Given the description of an element on the screen output the (x, y) to click on. 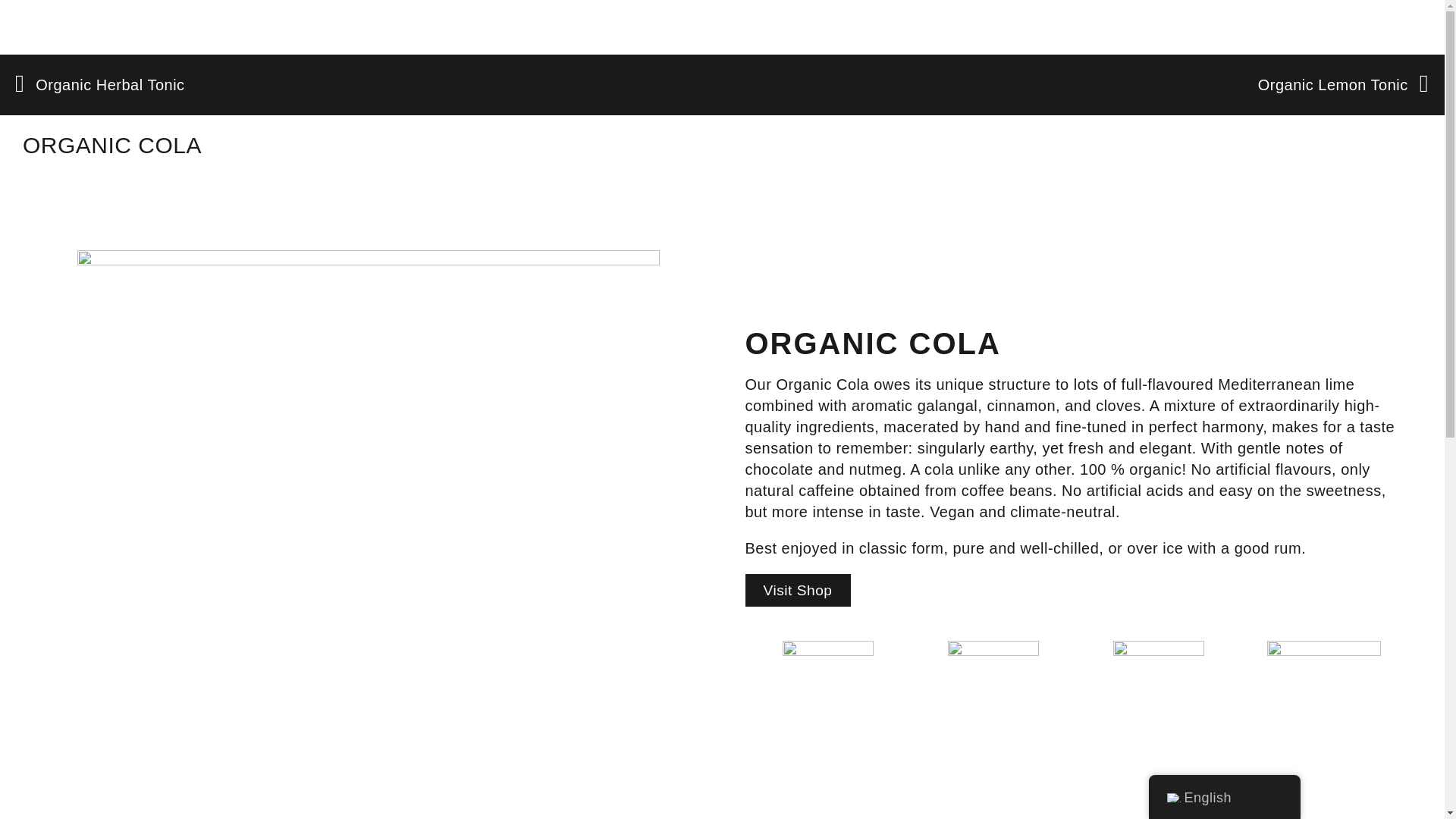
Organic Herbal Tonic (368, 84)
English (1172, 797)
Visit Shop (797, 590)
Organic Lemon Tonic (1342, 84)
